Given the description of an element on the screen output the (x, y) to click on. 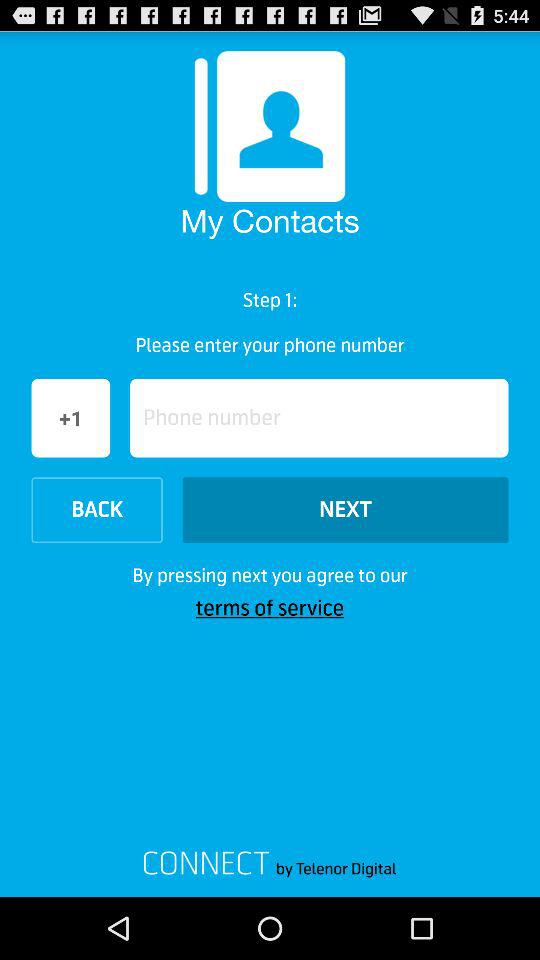
scroll to the back icon (96, 510)
